Given the description of an element on the screen output the (x, y) to click on. 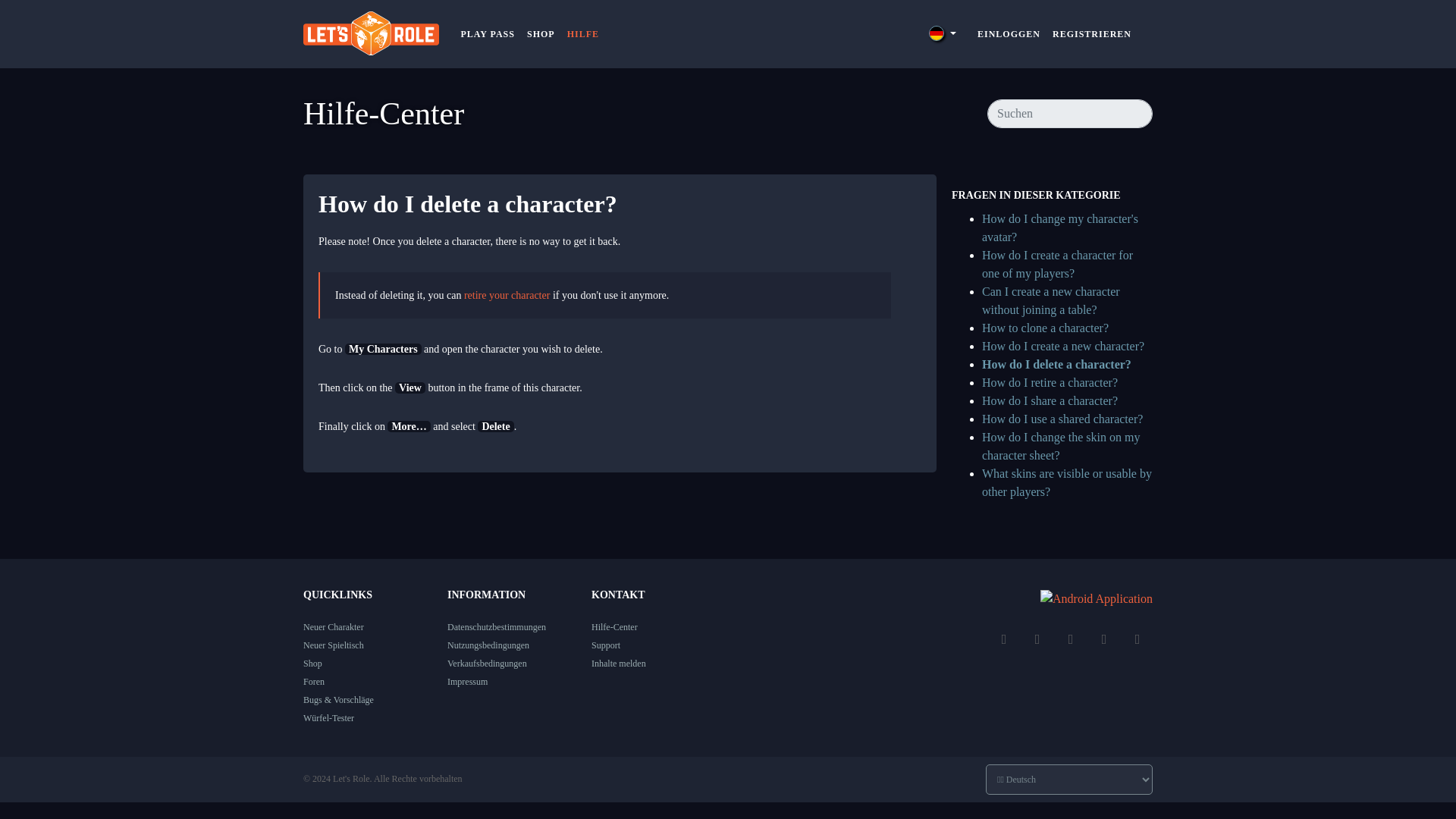
How do I use a shared character? (1061, 418)
How do I change my character's avatar? (1059, 227)
What skins are visible or usable by other players? (1066, 481)
Neuer Charakter (333, 626)
SHOP (540, 33)
Shop (311, 663)
How do I share a character? (1049, 400)
How do I create a new character? (1062, 345)
How to clone a character? (1044, 327)
Hilfe-Center (614, 626)
Foren (313, 681)
PLAY PASS (487, 33)
Datenschutzbestimmungen (496, 626)
How do I change the skin on my character sheet? (1060, 445)
Neuer Spieltisch (333, 644)
